Given the description of an element on the screen output the (x, y) to click on. 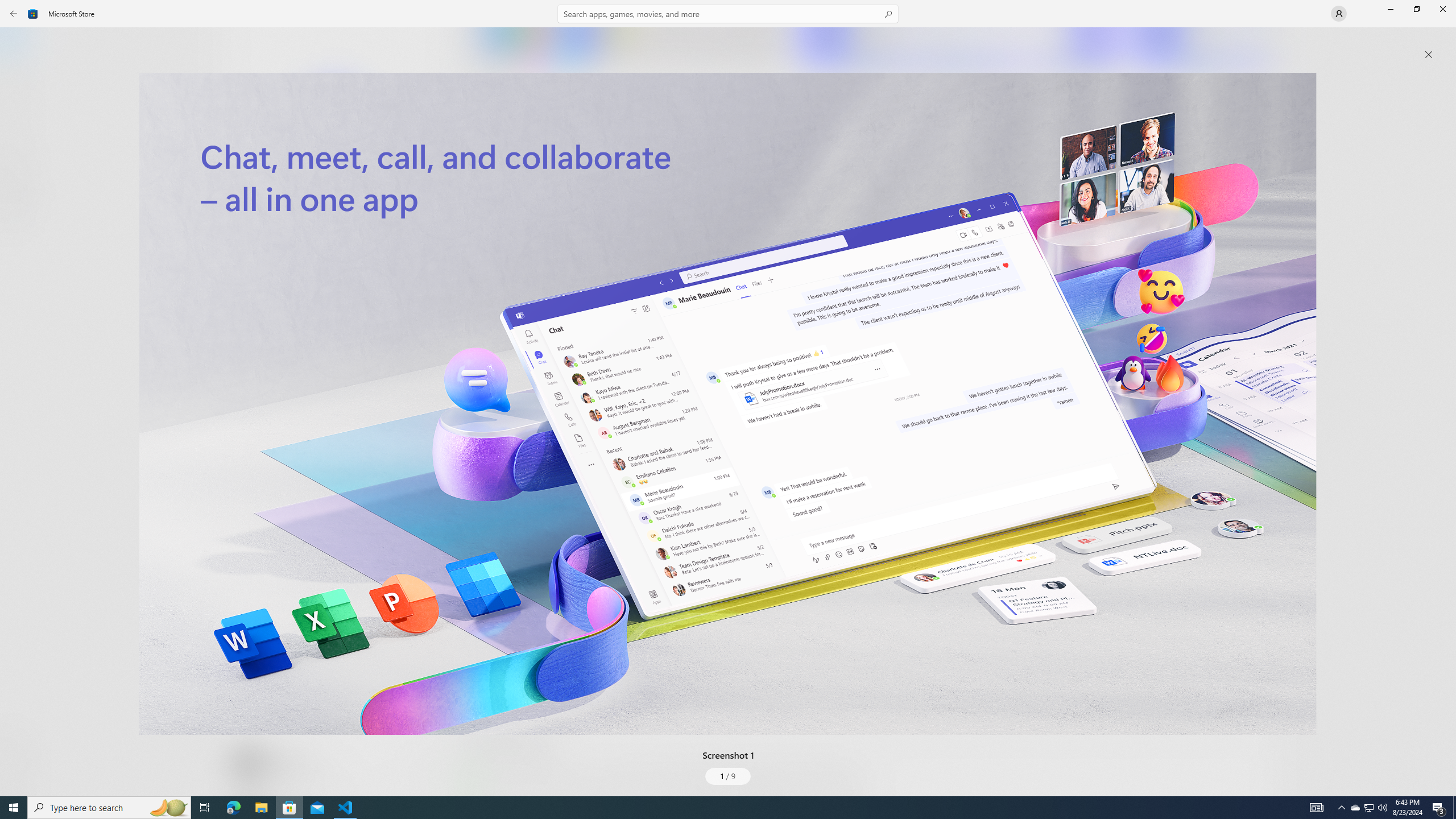
Install (334, 244)
